Given the description of an element on the screen output the (x, y) to click on. 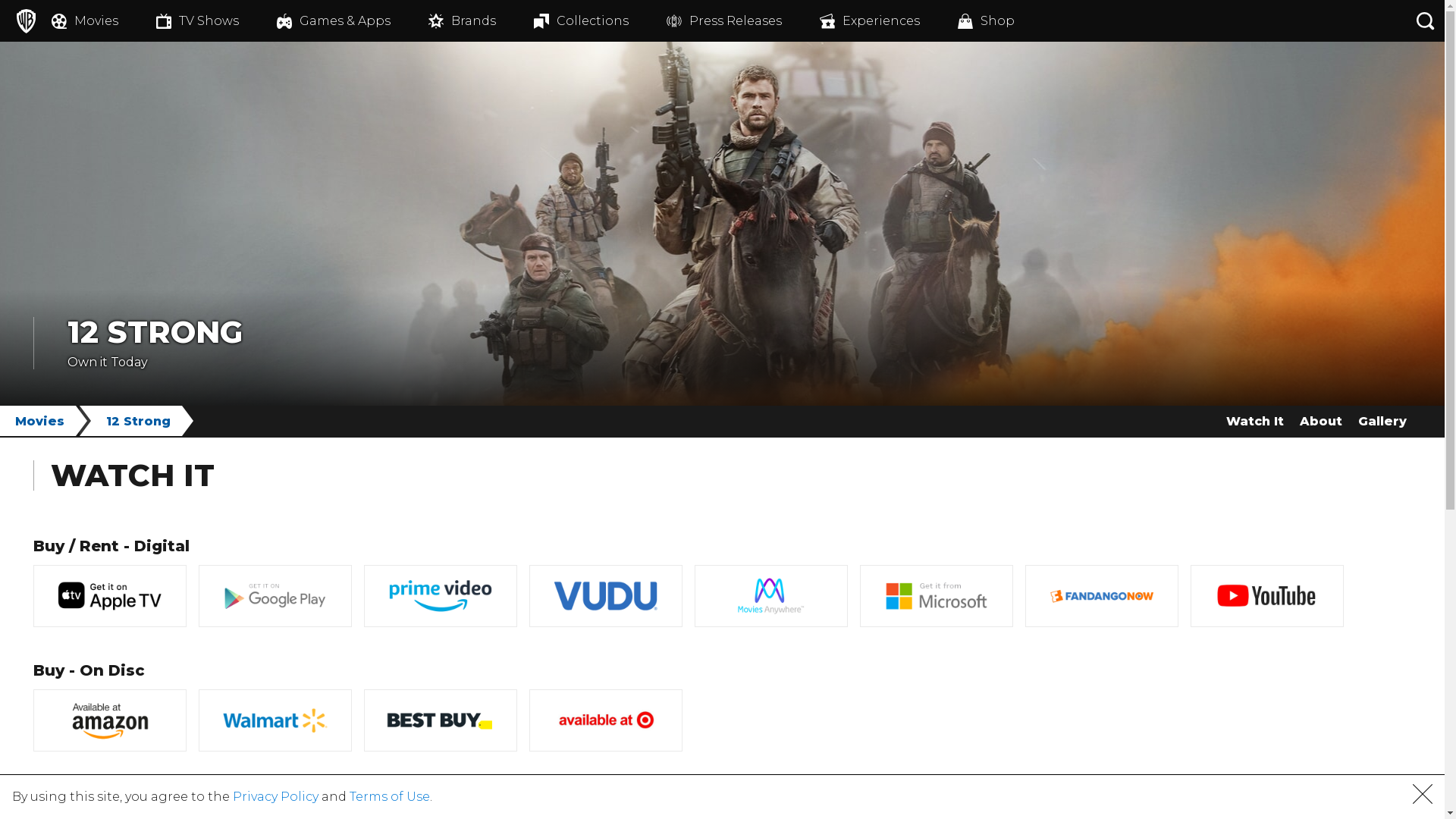
About Element type: text (1320, 420)
Press Releases Element type: text (742, 20)
12 Strong Element type: text (144, 420)
Privacy Policy Element type: text (275, 796)
Terms of Use Element type: text (389, 796)
Experiences Element type: text (888, 20)
Movies Element type: text (45, 420)
Gallery Element type: text (1381, 420)
Collections Element type: text (599, 20)
Brands Element type: text (480, 20)
Shop Element type: text (1004, 20)
Movies Element type: text (103, 20)
Games & Apps Element type: text (352, 20)
Watch It Element type: text (1254, 420)
TV Shows Element type: text (216, 20)
